Given the description of an element on the screen output the (x, y) to click on. 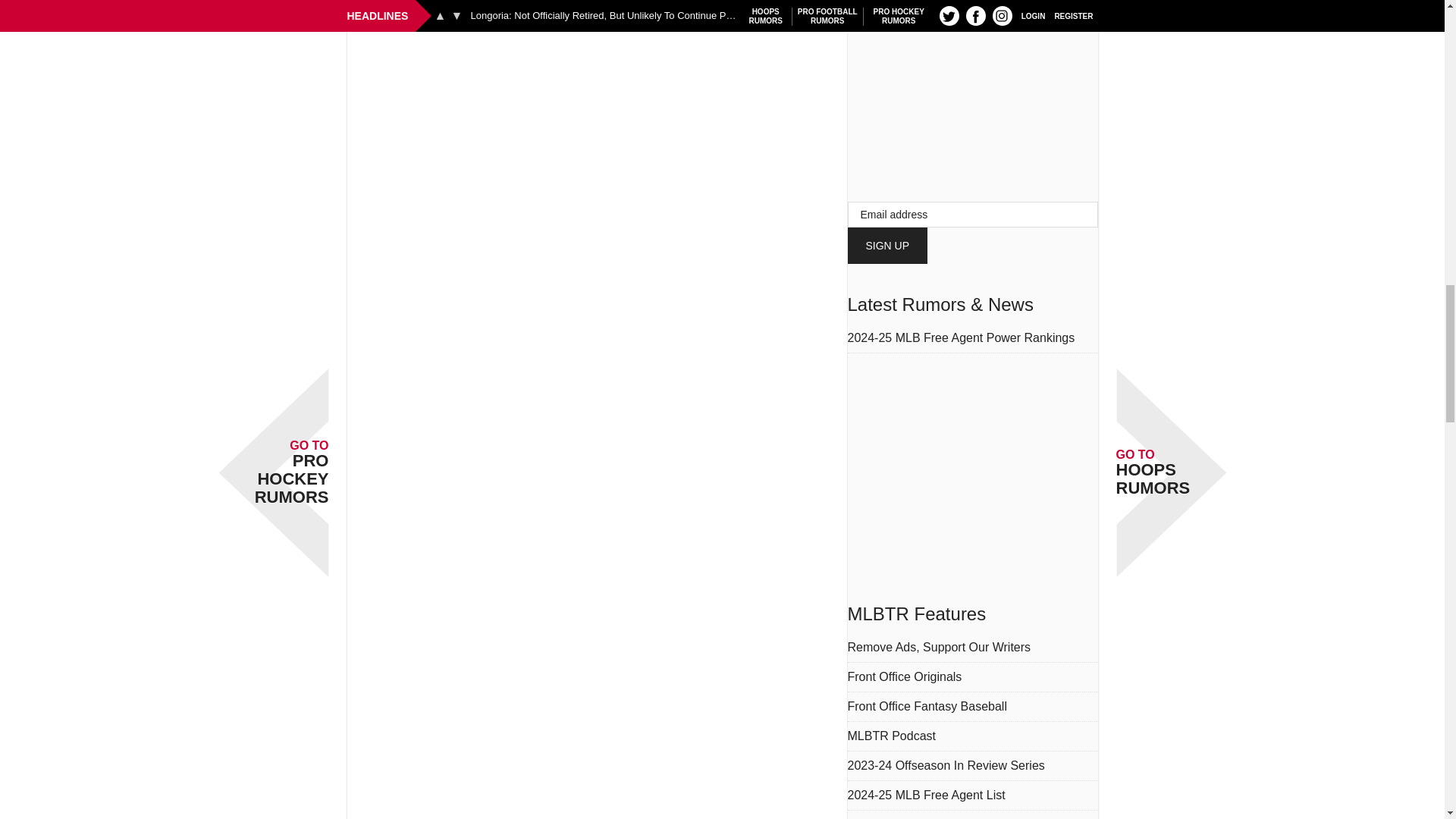
Sign Up (887, 245)
